Given the description of an element on the screen output the (x, y) to click on. 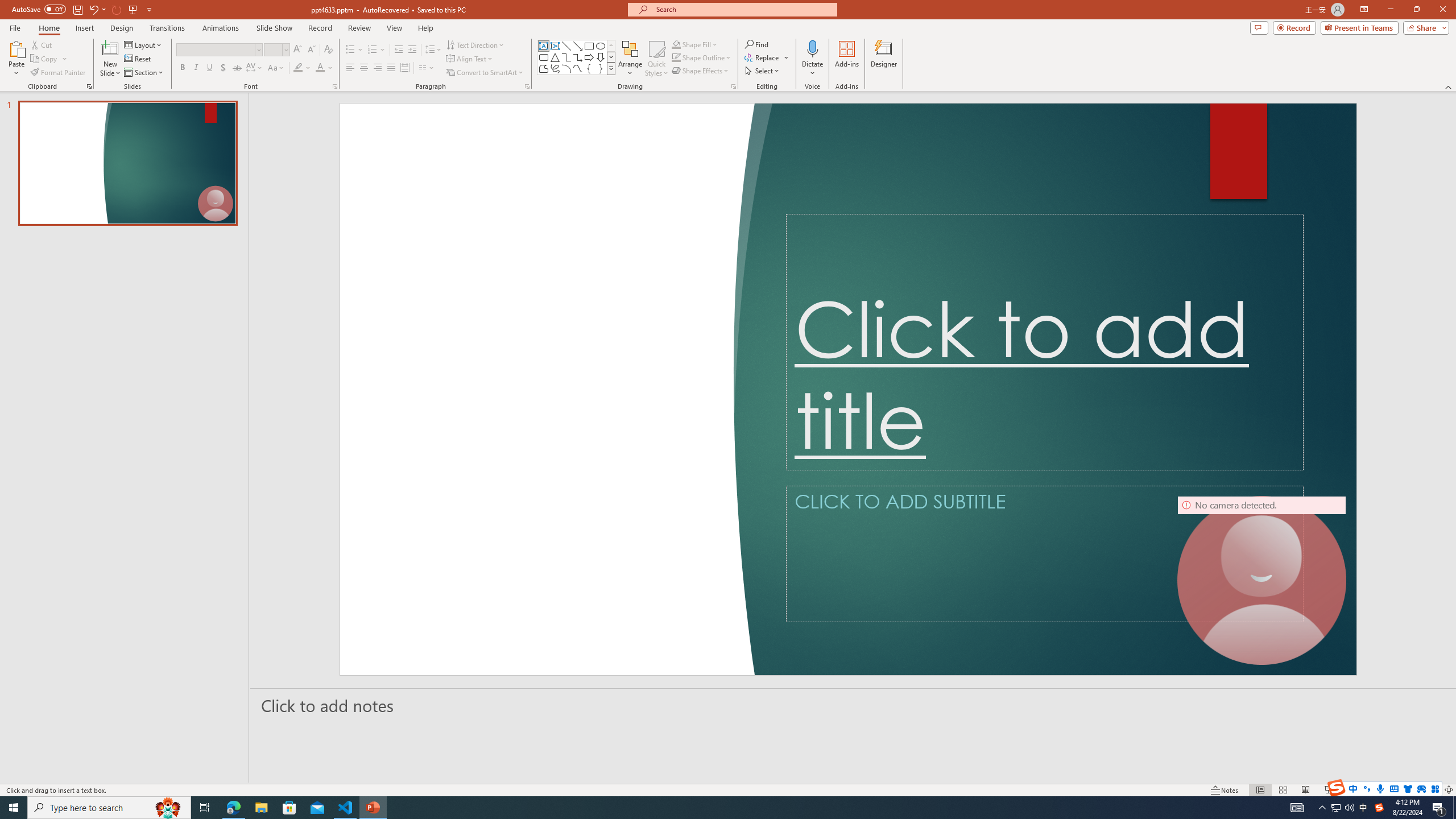
Zoom 140% (1430, 790)
